Given the description of an element on the screen output the (x, y) to click on. 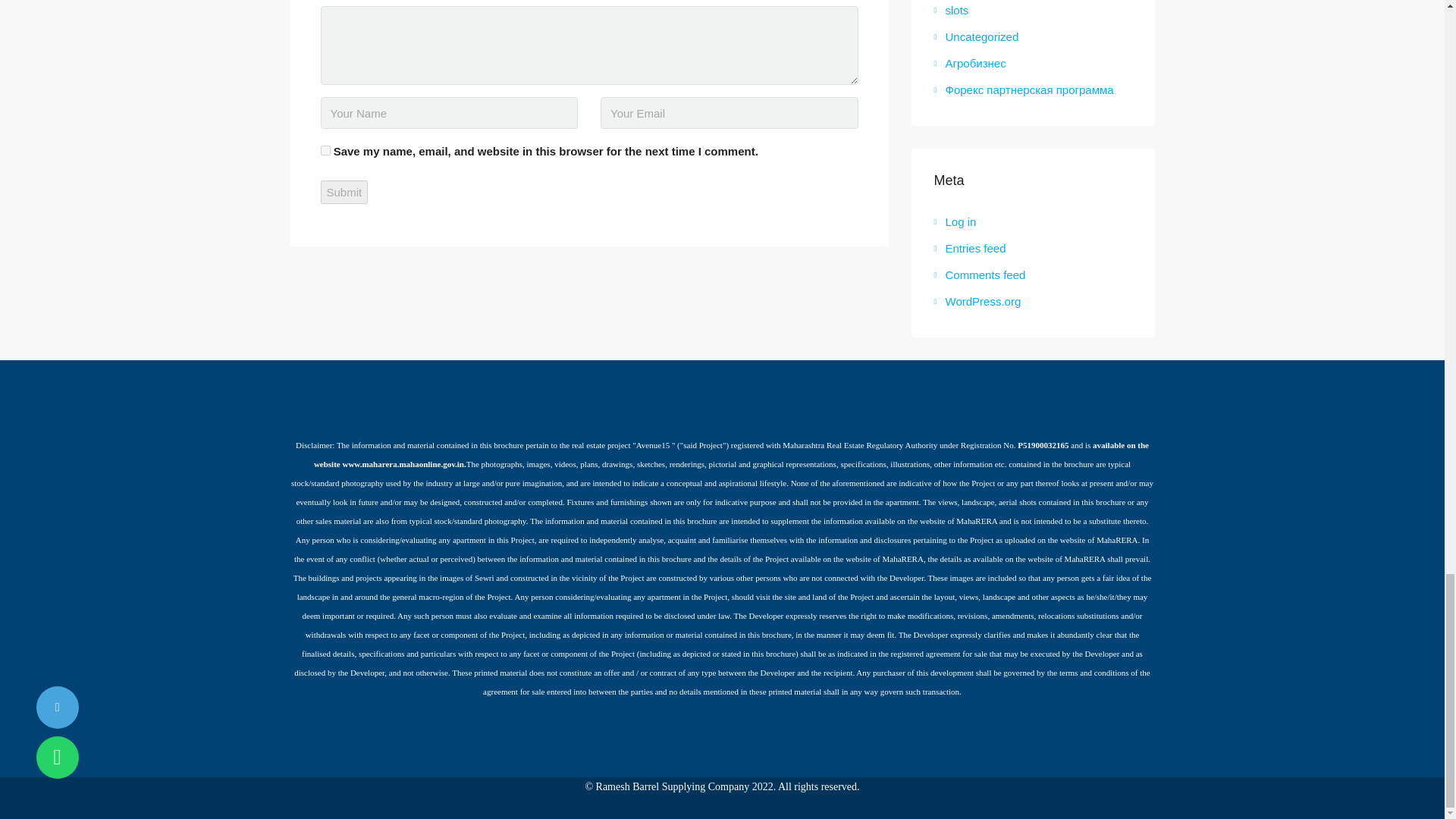
yes (325, 150)
Submit (344, 191)
